Given the description of an element on the screen output the (x, y) to click on. 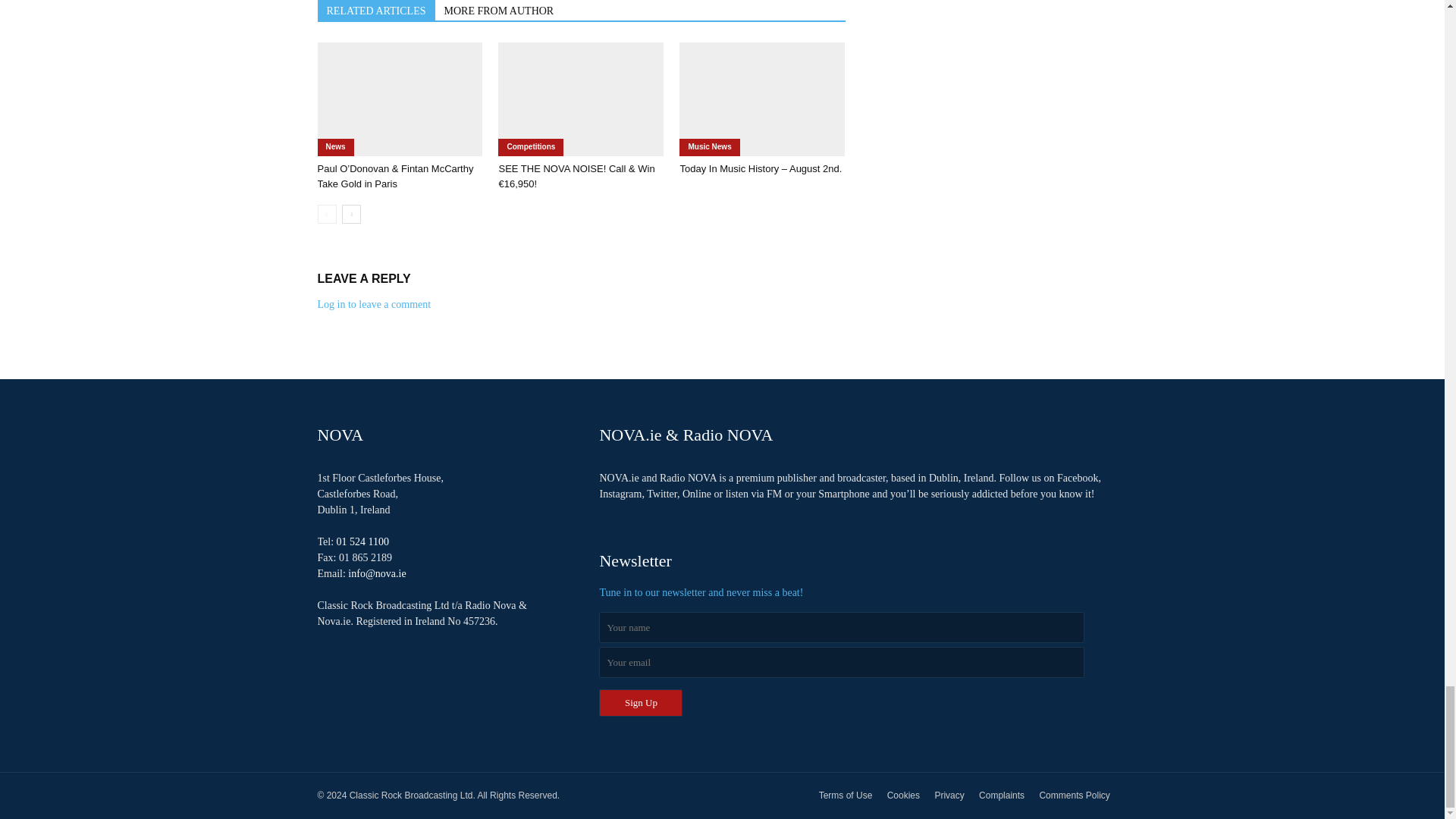
Sign Up (640, 702)
